Given the description of an element on the screen output the (x, y) to click on. 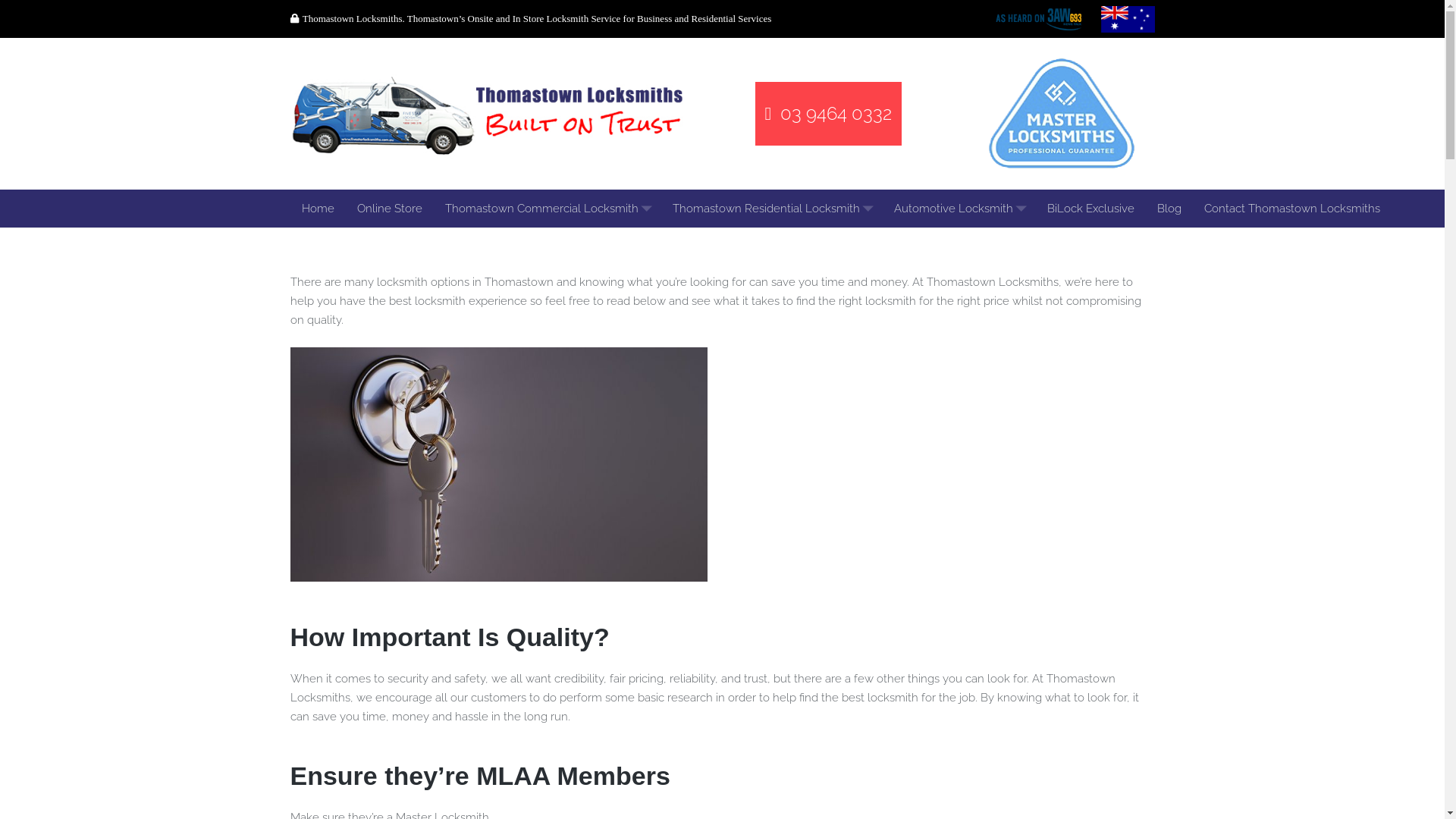
Thomastown Commercial Locksmith Element type: text (547, 208)
03 9464 0332 Element type: text (828, 113)
Home Element type: text (317, 208)
Automotive Locksmith Element type: text (958, 208)
Thomastown Residential Locksmith Element type: text (771, 208)
Online Store Element type: text (389, 208)
Contact Thomastown Locksmiths Element type: text (1291, 208)
BiLock Exclusive Element type: text (1090, 208)
Blog Element type: text (1168, 208)
